Given the description of an element on the screen output the (x, y) to click on. 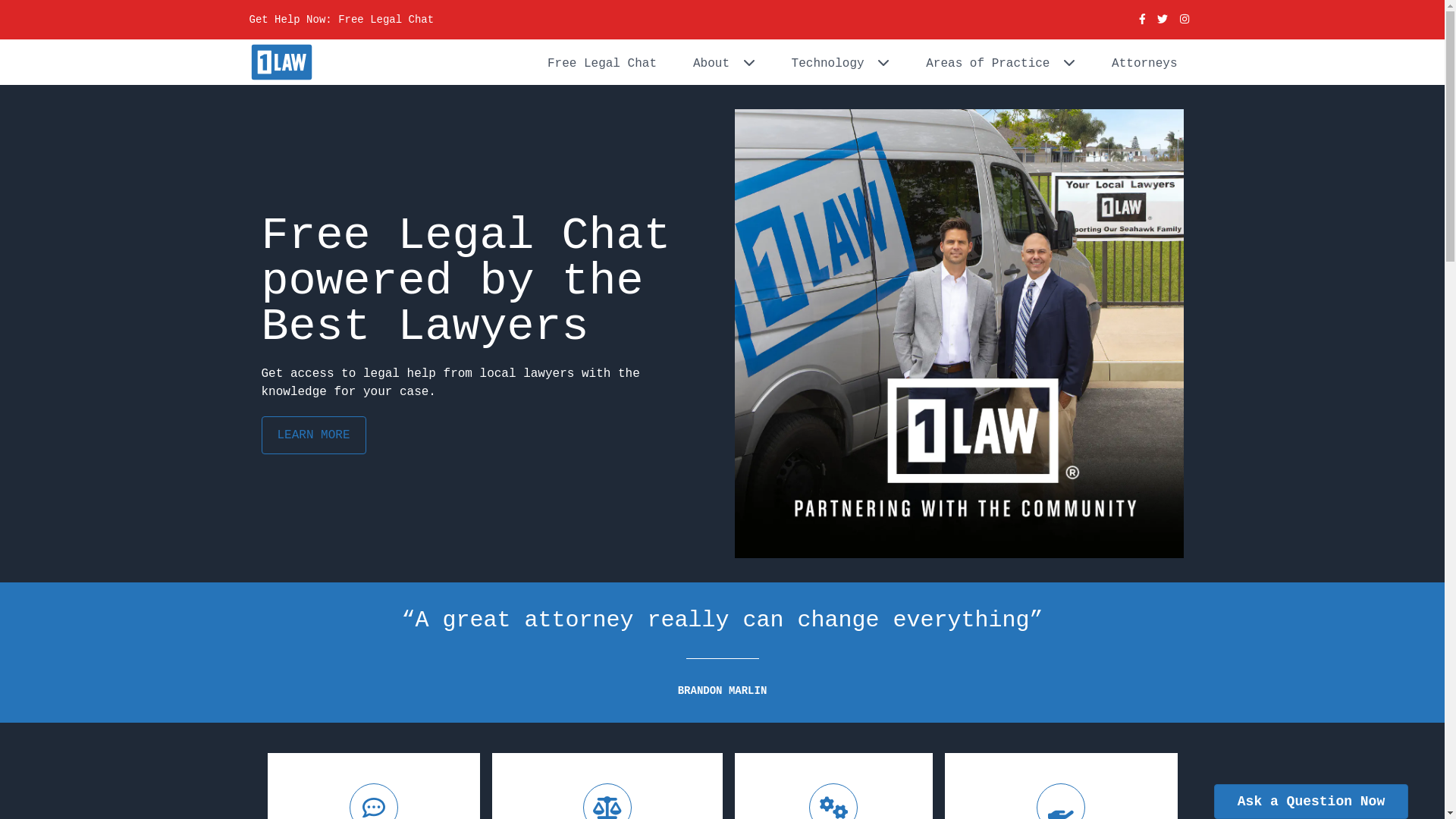
Technology Element type: text (840, 61)
Areas of Practice Element type: text (1000, 61)
LEARN MORE Element type: text (312, 435)
Attorneys Element type: text (1144, 61)
Free Legal Chat Element type: text (601, 61)
About Element type: text (723, 61)
Free Legal Chat Element type: text (385, 19)
